Given the description of an element on the screen output the (x, y) to click on. 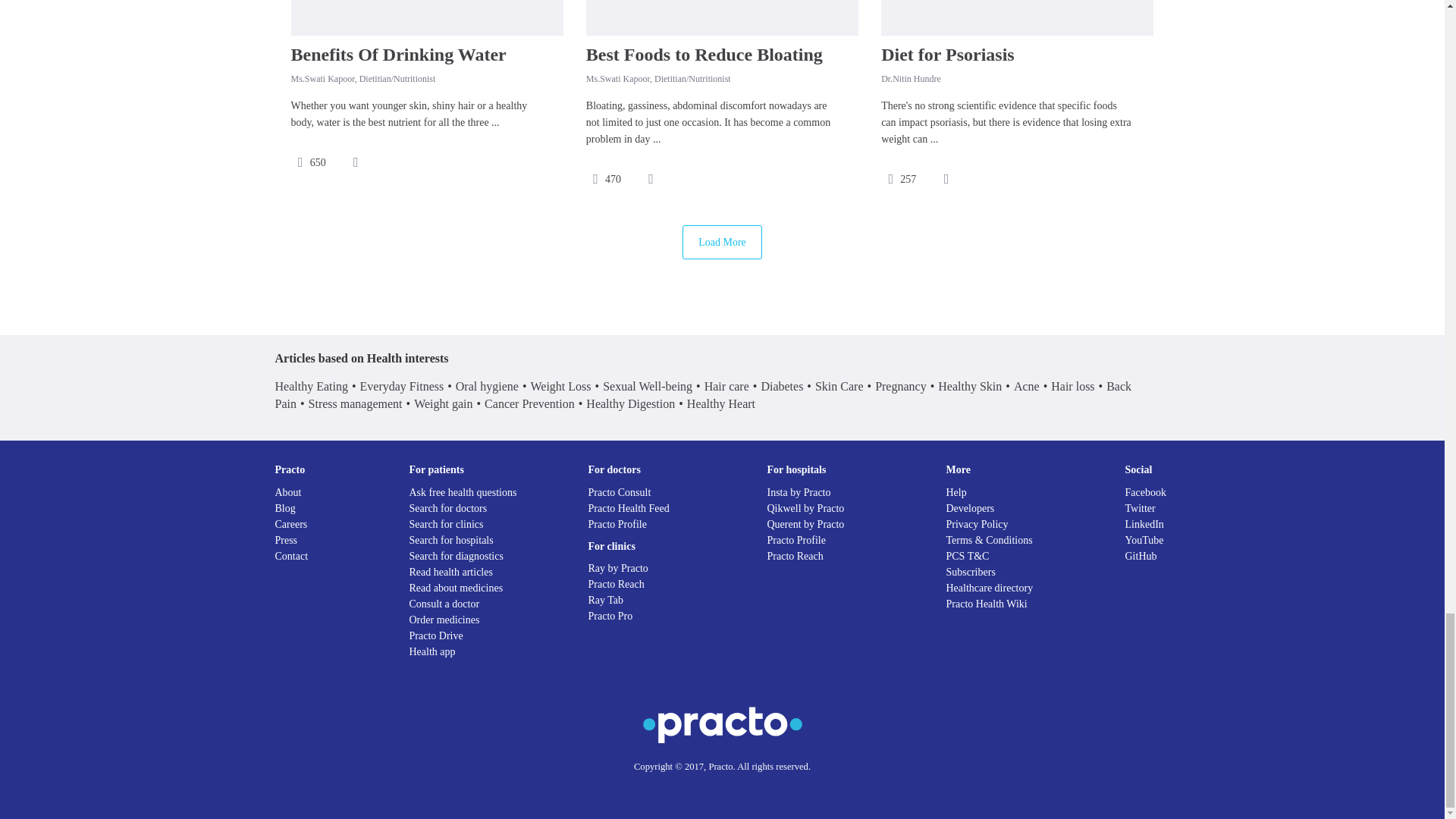
Ask free health questions (462, 491)
Consult a doctor (444, 603)
About (288, 491)
Search for doctors (448, 508)
Search for diagnostics (456, 555)
Read about medicines (456, 587)
Contact (291, 555)
Read Health Articles (451, 572)
Search for hospitals (451, 540)
Press (286, 540)
